Given the description of an element on the screen output the (x, y) to click on. 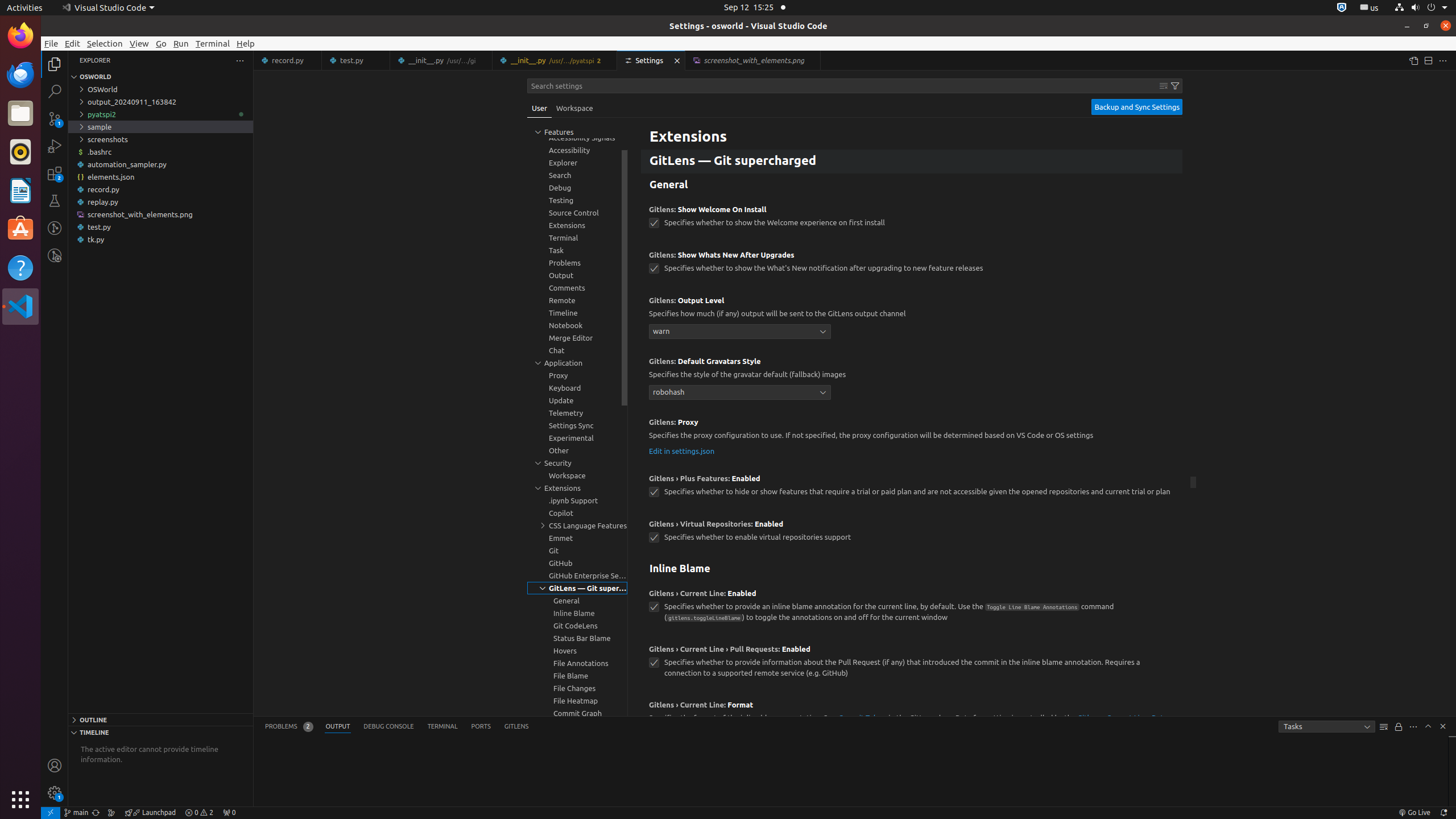
Turn Auto Scrolling Off Element type: check-box (1398, 726)
Debug, group Element type: tree-item (577, 187)
automation_sampler.py Element type: tree-item (160, 164)
Search (Ctrl+Shift+F) Element type: page-tab (54, 91)
GitLens — Git supercharged, group Element type: tree-item (577, 587)
